Given the description of an element on the screen output the (x, y) to click on. 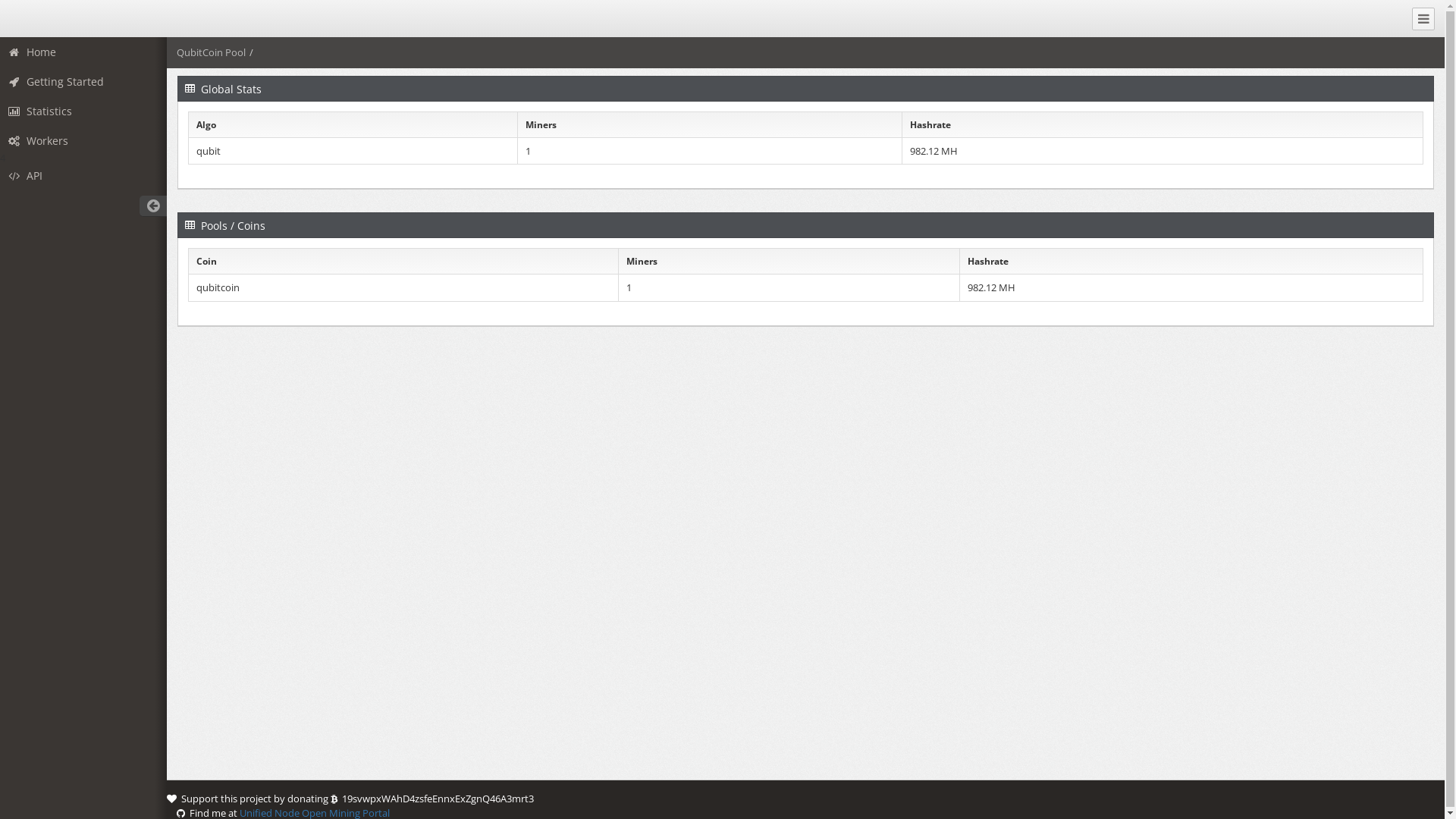
Getting Started Element type: text (83, 81)
Collapse Menu Element type: hover (1423, 18)
API Element type: text (83, 175)
Home Element type: text (83, 51)
Workers Element type: text (83, 140)
Statistics Element type: text (83, 110)
